Given the description of an element on the screen output the (x, y) to click on. 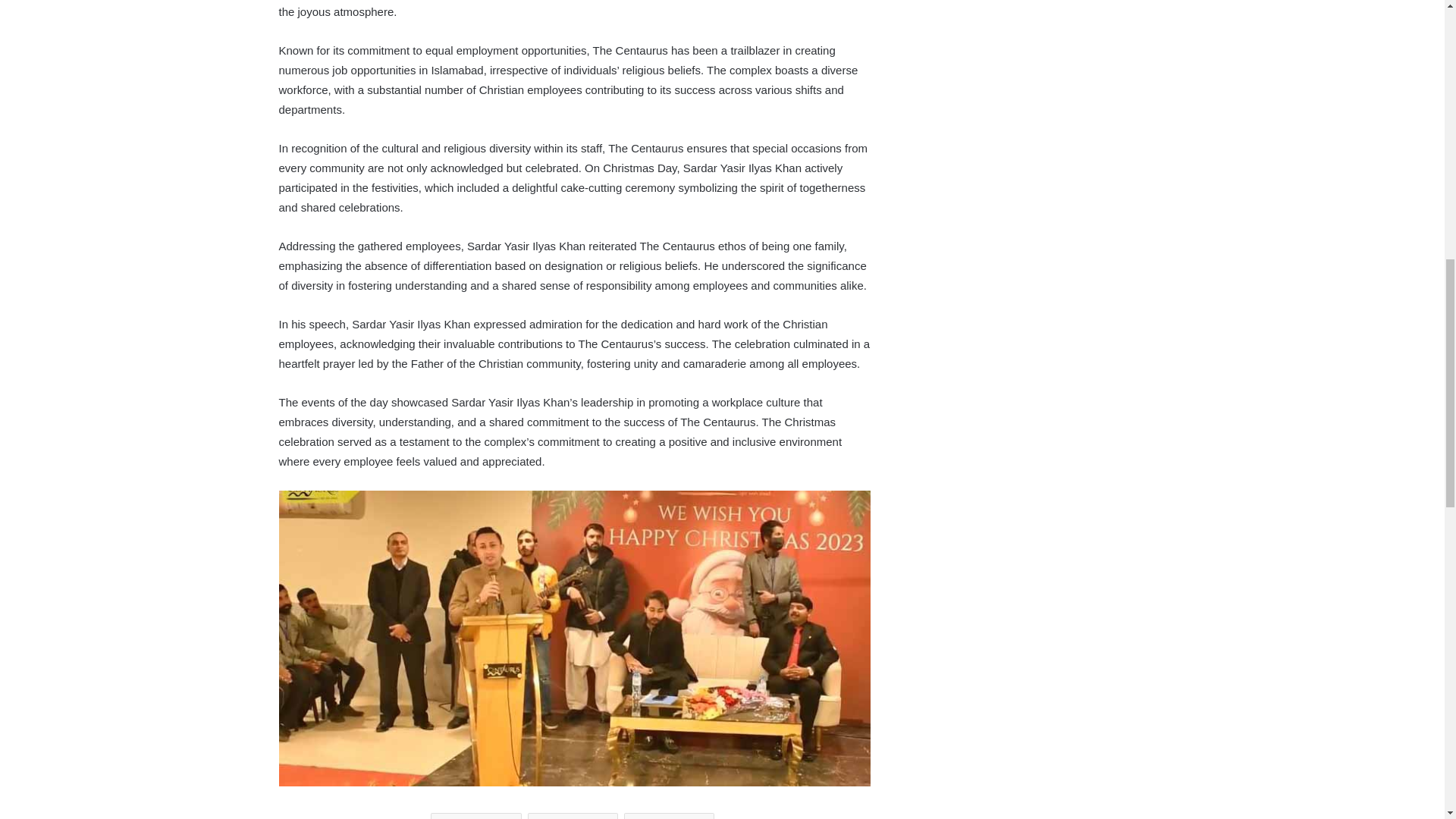
Christmas (572, 816)
Centaurus (475, 816)
Yasir Ilyas (669, 816)
